Given the description of an element on the screen output the (x, y) to click on. 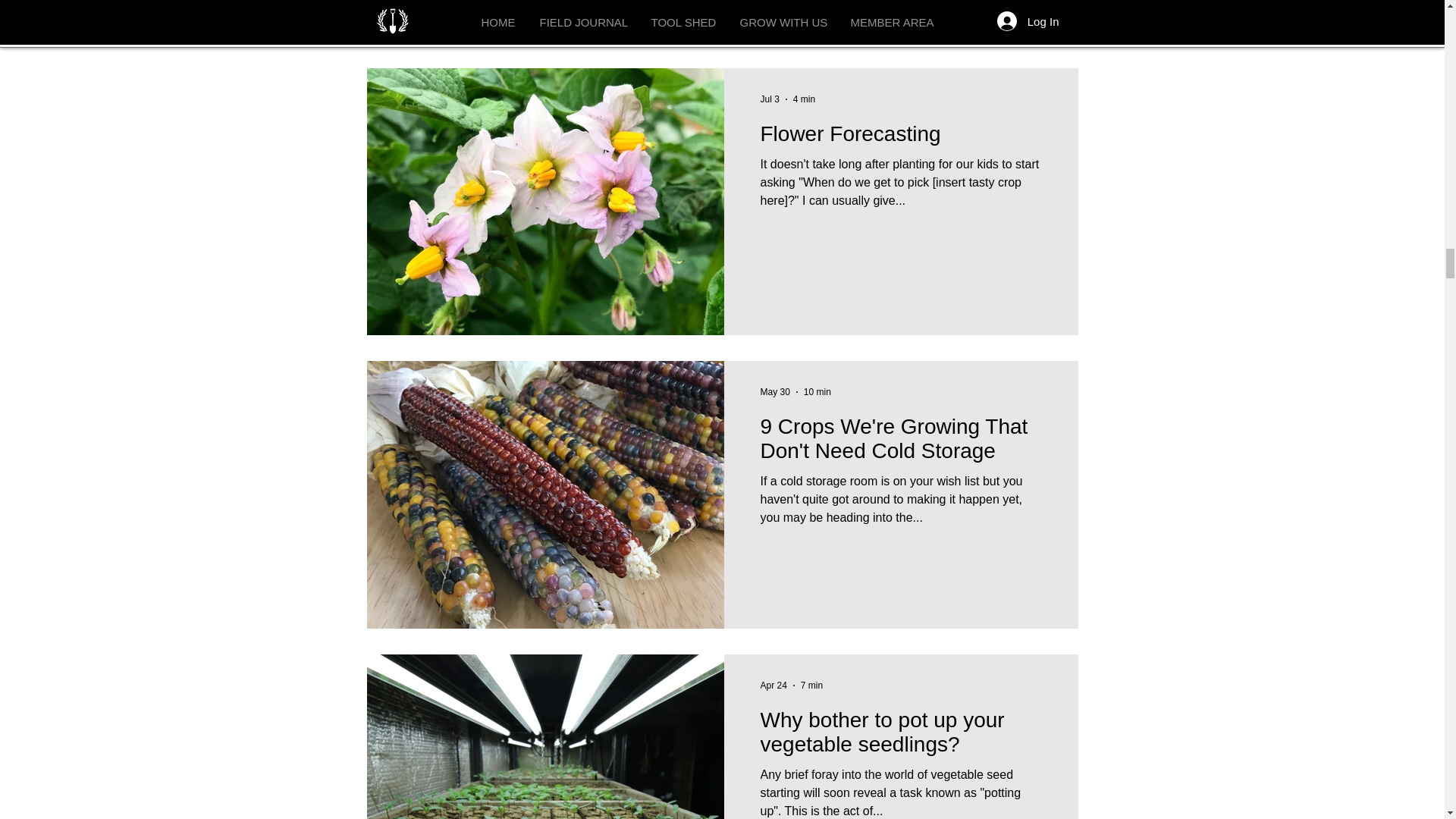
4 min (804, 99)
Jul 3 (769, 99)
Why bother to pot up your vegetable seedlings? (900, 736)
7 min (811, 685)
10 min (817, 391)
9 Crops We're Growing That Don't Need Cold Storage (900, 443)
Flower Forecasting (900, 138)
May 30 (774, 391)
Apr 24 (773, 685)
